Given the description of an element on the screen output the (x, y) to click on. 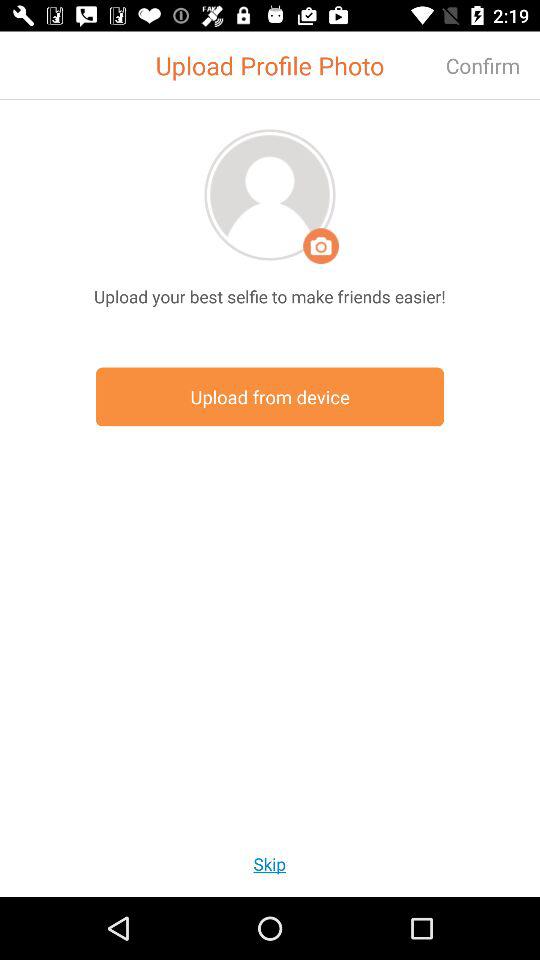
jump until the upload your best item (269, 296)
